Given the description of an element on the screen output the (x, y) to click on. 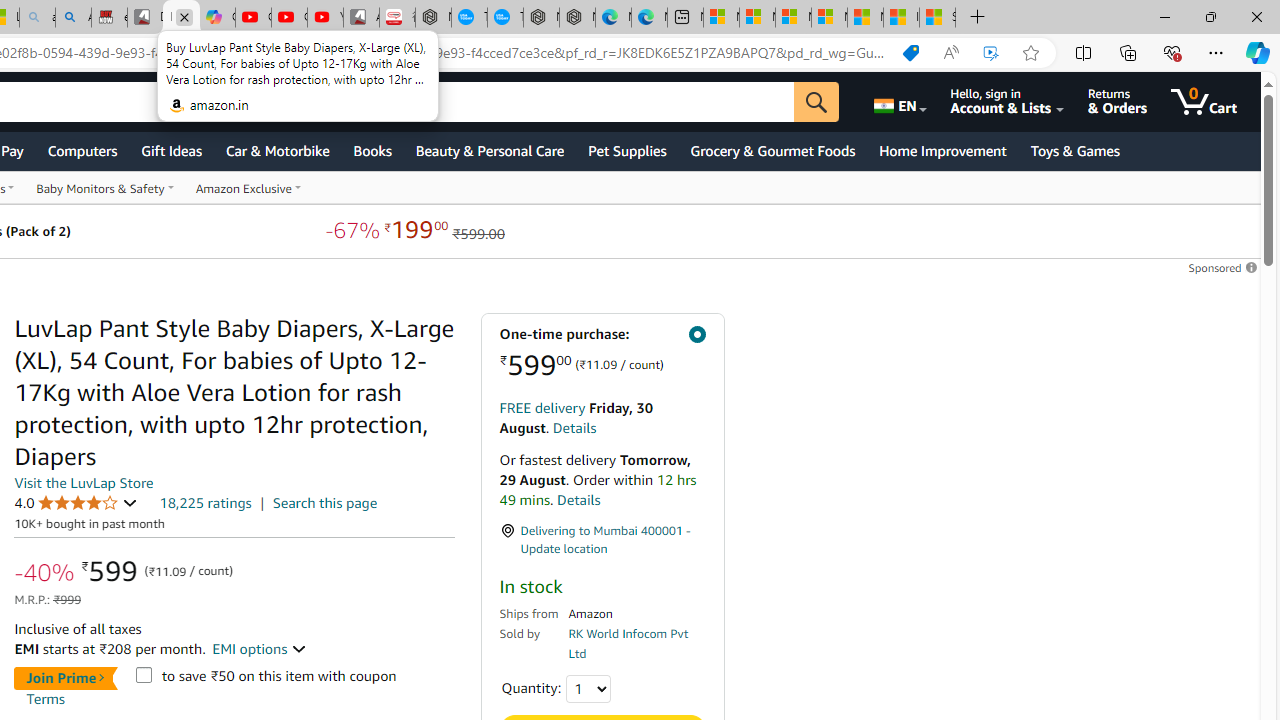
amazon - Search - Sleeping (37, 17)
Gloom - YouTube (289, 17)
Amazon Echo Dot PNG - Search Images (73, 17)
Microsoft account | Privacy (829, 17)
Microsoft account | Microsoft Account Privacy Settings (756, 17)
Nordace - My Account (433, 17)
This site has coupons! Shopping in Microsoft Edge (910, 53)
YouTube Kids - An App Created for Kids to Explore Content (325, 17)
